Given the description of an element on the screen output the (x, y) to click on. 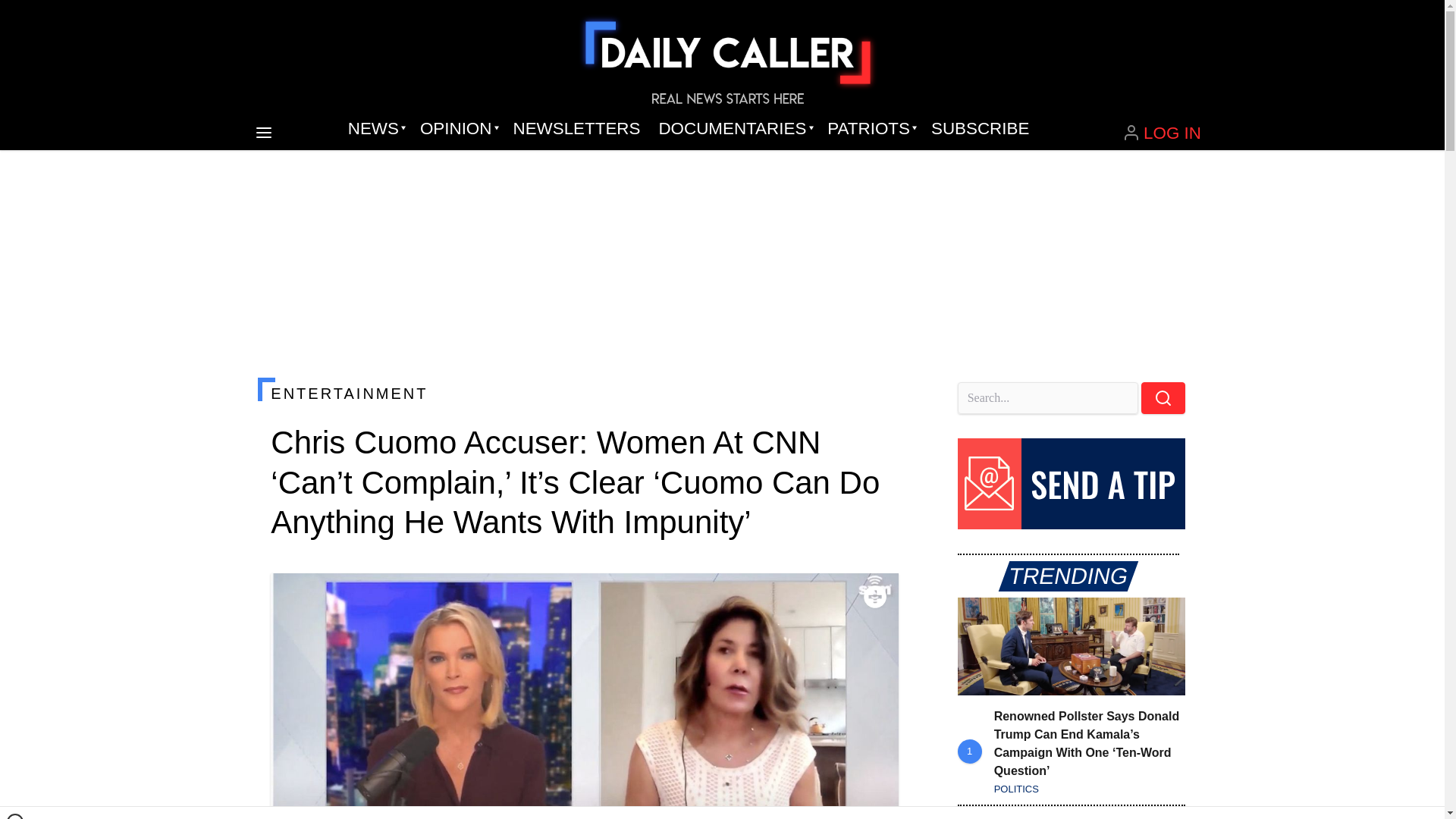
Toggle fullscreen (874, 596)
DOCUMENTARIES (733, 128)
ENTERTAINMENT (584, 393)
OPINION (456, 128)
NEWS (374, 128)
NEWSLETTERS (576, 128)
Close window (14, 816)
SUBSCRIBE (979, 128)
PATRIOTS (869, 128)
